Given the description of an element on the screen output the (x, y) to click on. 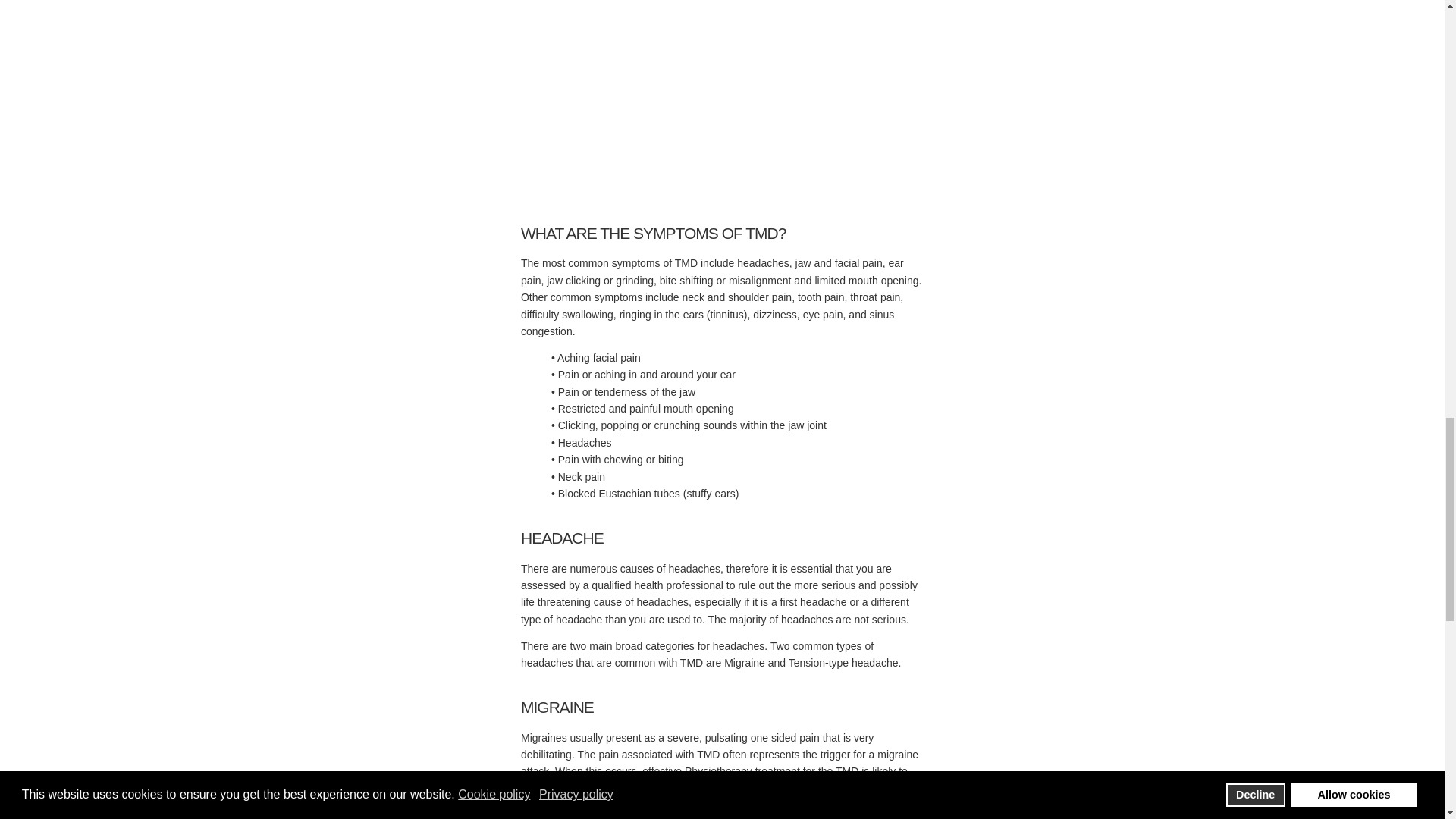
JoomlaWorks AllVideos Player (721, 106)
